Given the description of an element on the screen output the (x, y) to click on. 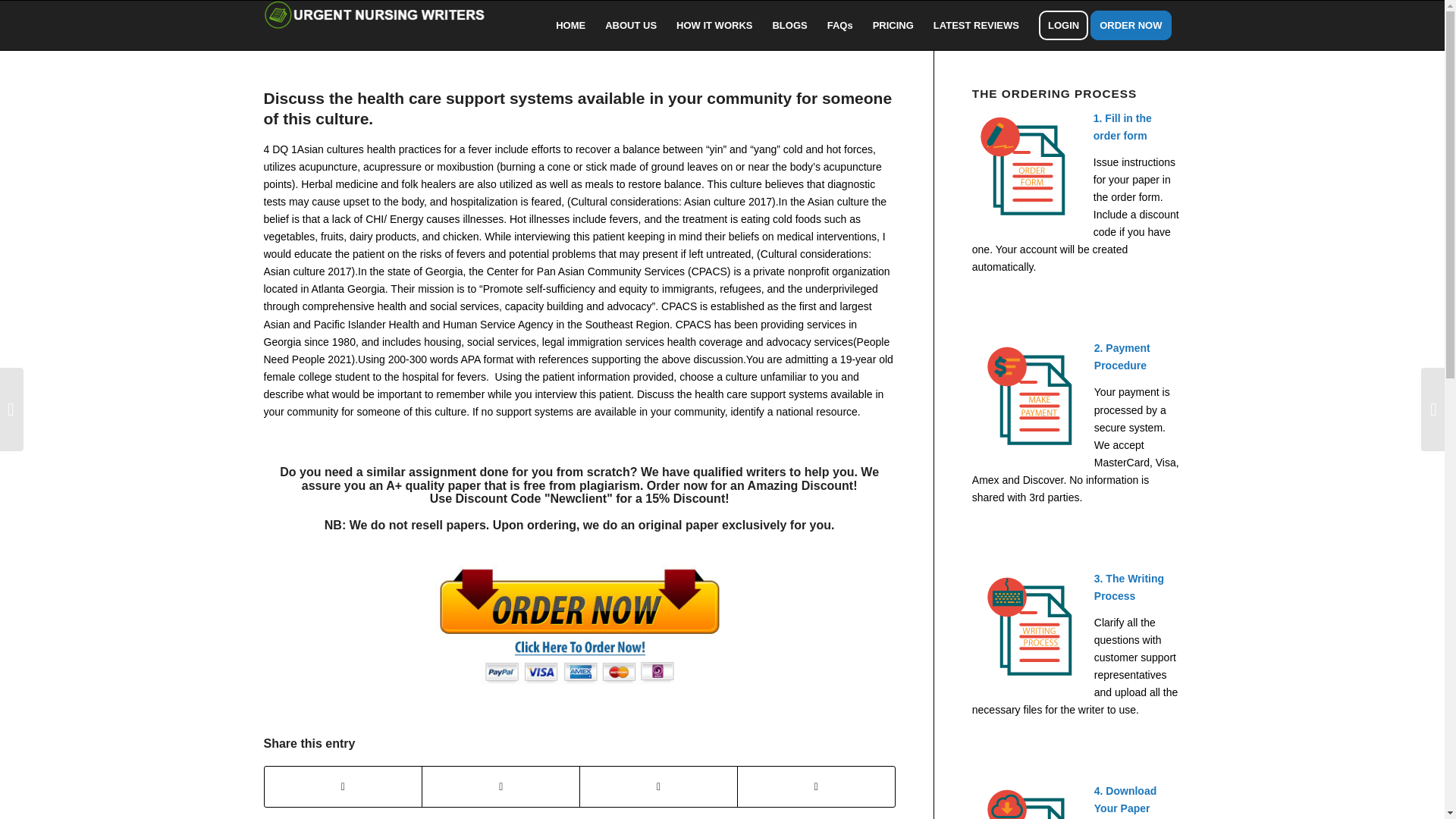
ABOUT US (630, 24)
BLOGS (788, 24)
FAQs (839, 24)
PRICING (893, 24)
ORDER NOW (1135, 24)
HOW IT WORKS (713, 24)
HOME (570, 24)
LOGIN (1063, 24)
